Given the description of an element on the screen output the (x, y) to click on. 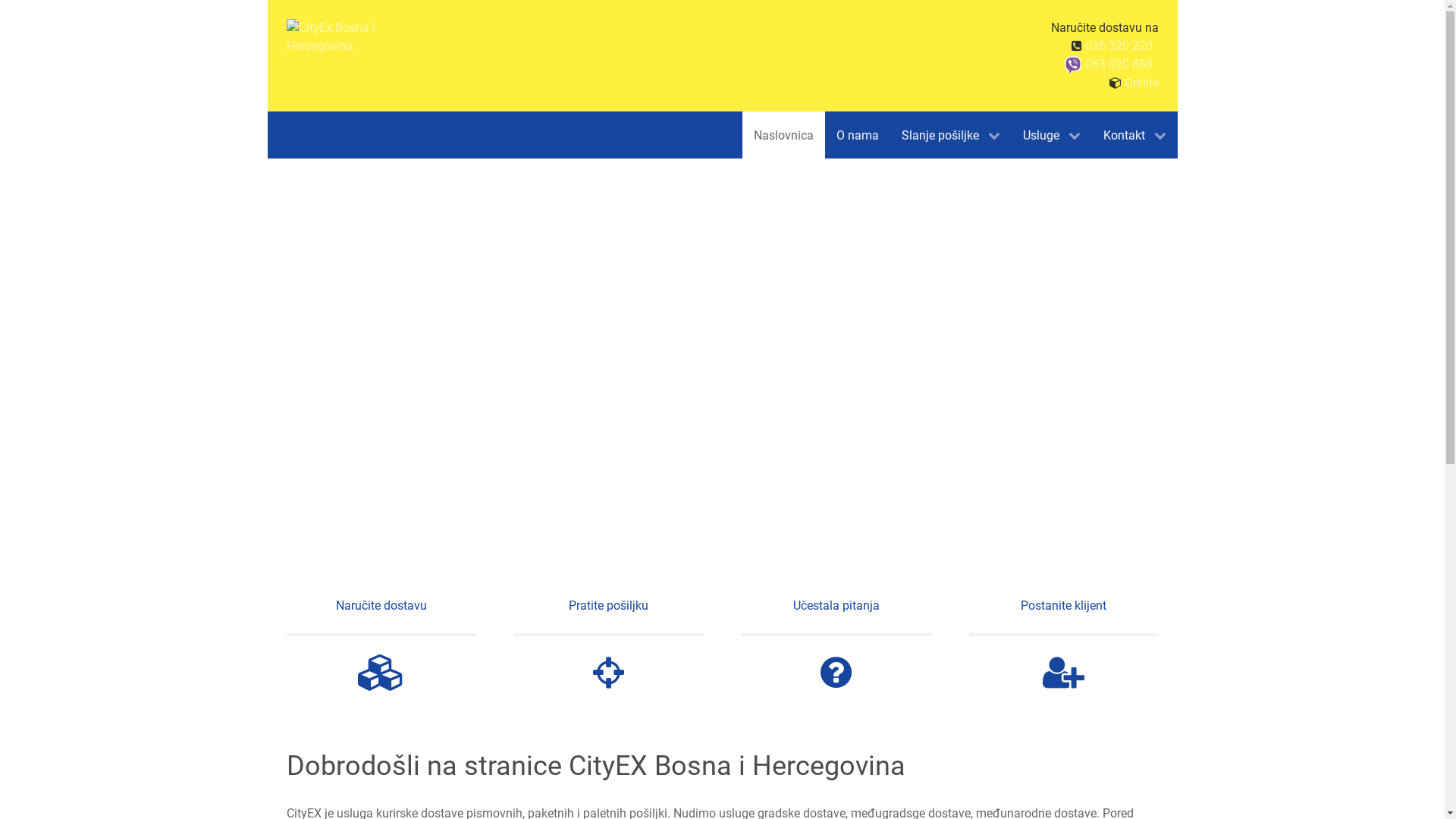
036 320 220 Element type: text (1117, 45)
Naslovnica Element type: text (782, 134)
Postanite klijent Element type: text (1063, 643)
Online Element type: text (1140, 82)
O nama Element type: text (857, 134)
CityEx Bosna i Hercegovina Element type: hover (343, 36)
063 020 888 Element type: text (1117, 63)
